Given the description of an element on the screen output the (x, y) to click on. 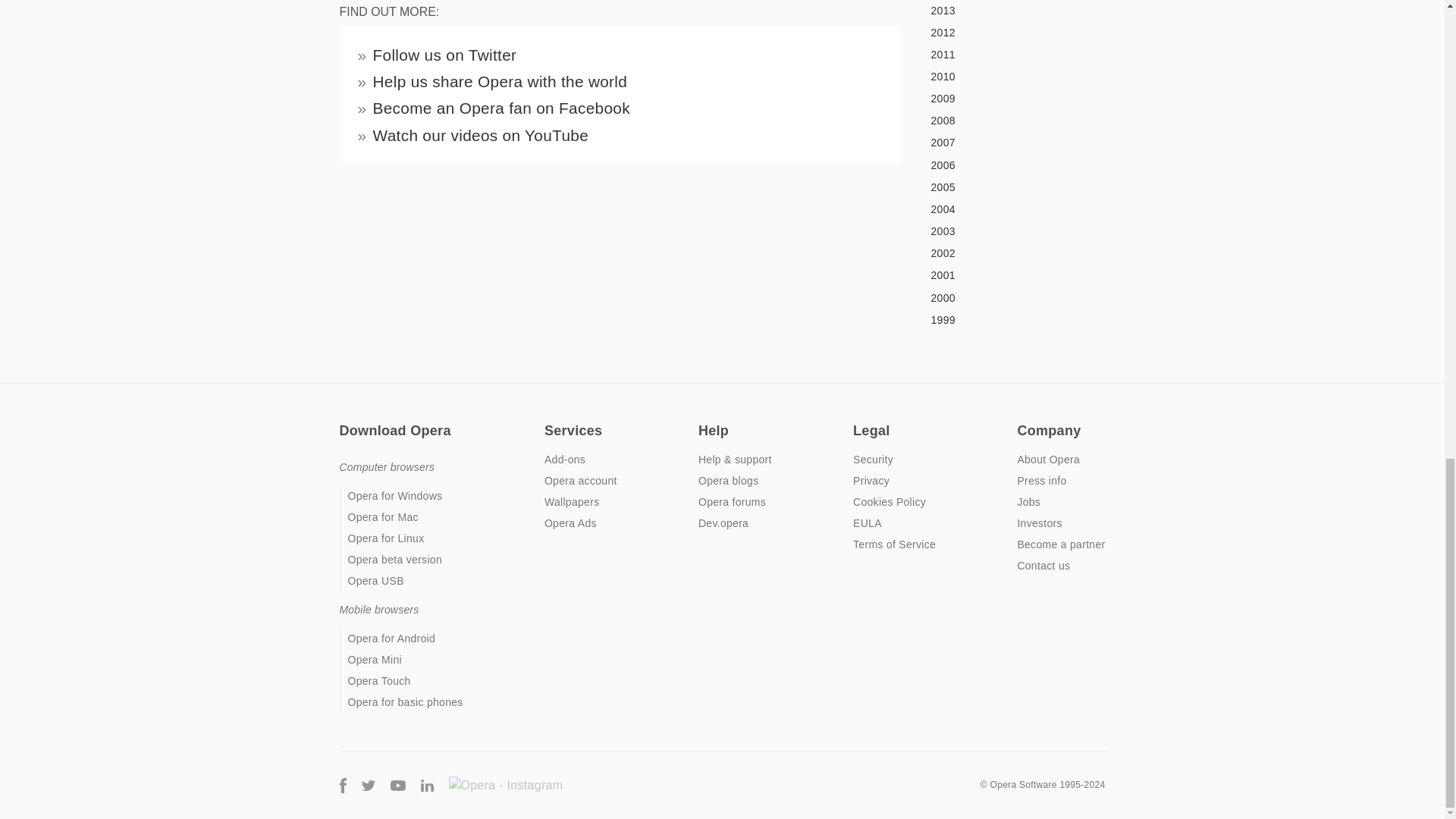
Opera - Youtube (396, 784)
Help us share Opera with the world (499, 81)
Become an Opera fan on Facebook (501, 108)
Watch our videos on YouTube (480, 135)
Opera - Facebook (342, 784)
Follow us on Twitter (444, 54)
Opera - Twitter (367, 784)
Opera - Instagram (505, 784)
Opera - LinkedIn (426, 784)
